Given the description of an element on the screen output the (x, y) to click on. 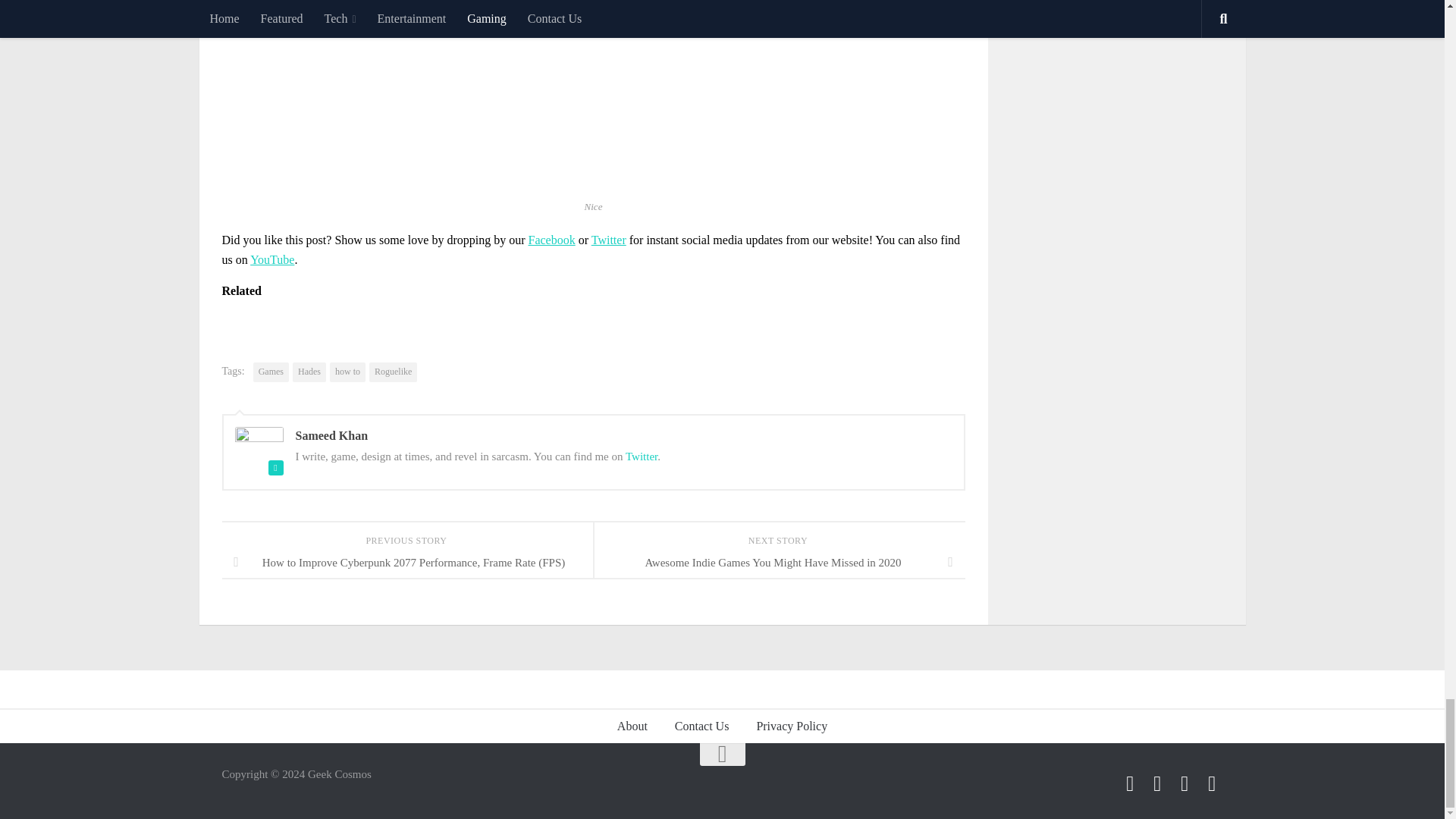
Facebook (1129, 783)
Youtube Channel (1212, 783)
how to (347, 372)
YouTube (272, 259)
Awesome Indie Games You Might Have Missed in 2020 (777, 562)
Games (270, 372)
Twitter (1157, 783)
Twitter (608, 239)
Twitter (642, 456)
Roguelike (392, 372)
Hades (309, 372)
RSS Feed (1184, 783)
Facebook (551, 239)
